Given the description of an element on the screen output the (x, y) to click on. 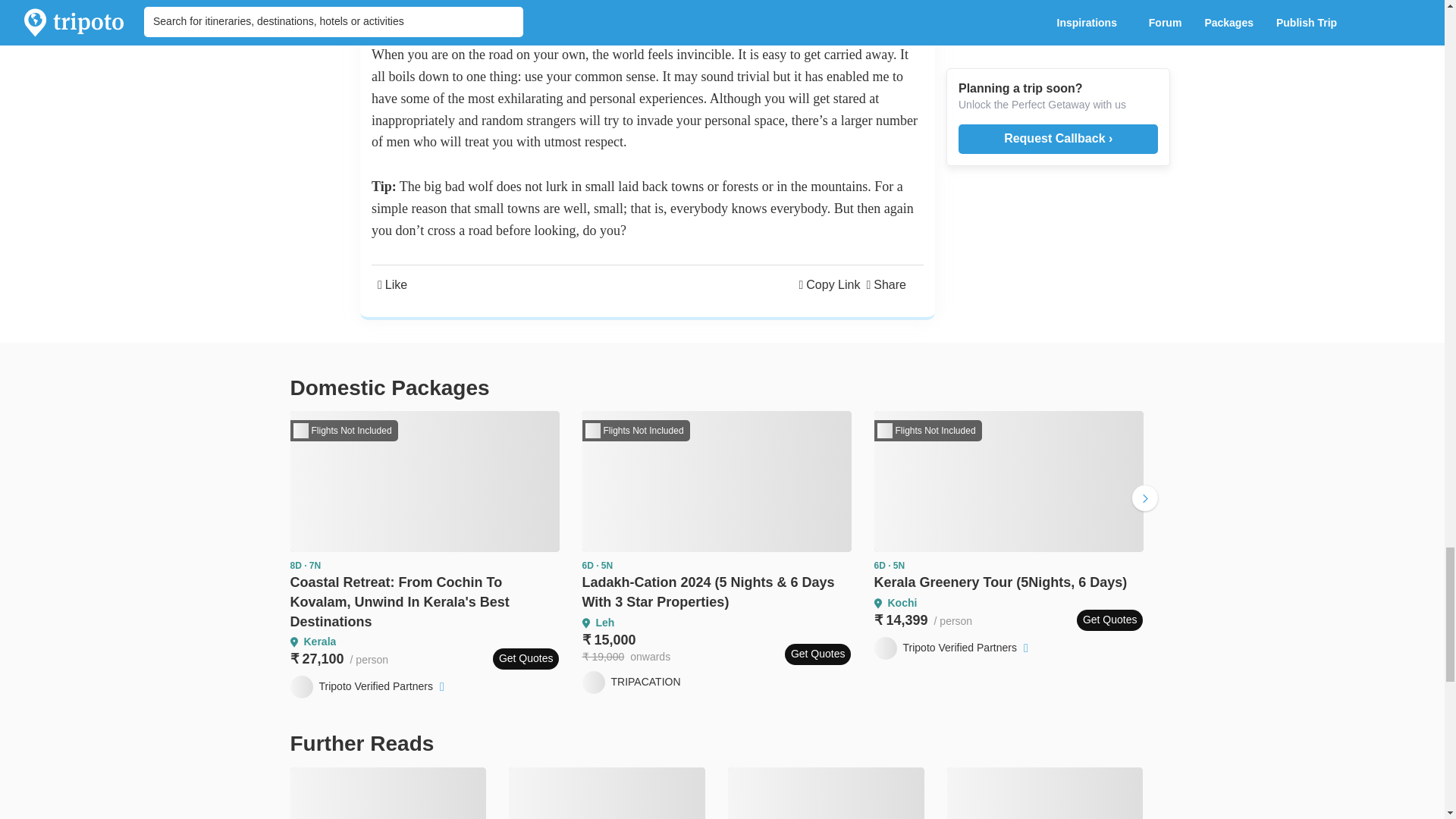
Get Quotes (526, 658)
Get Quotes (817, 654)
Tripoto Verified Partners (367, 686)
